Given the description of an element on the screen output the (x, y) to click on. 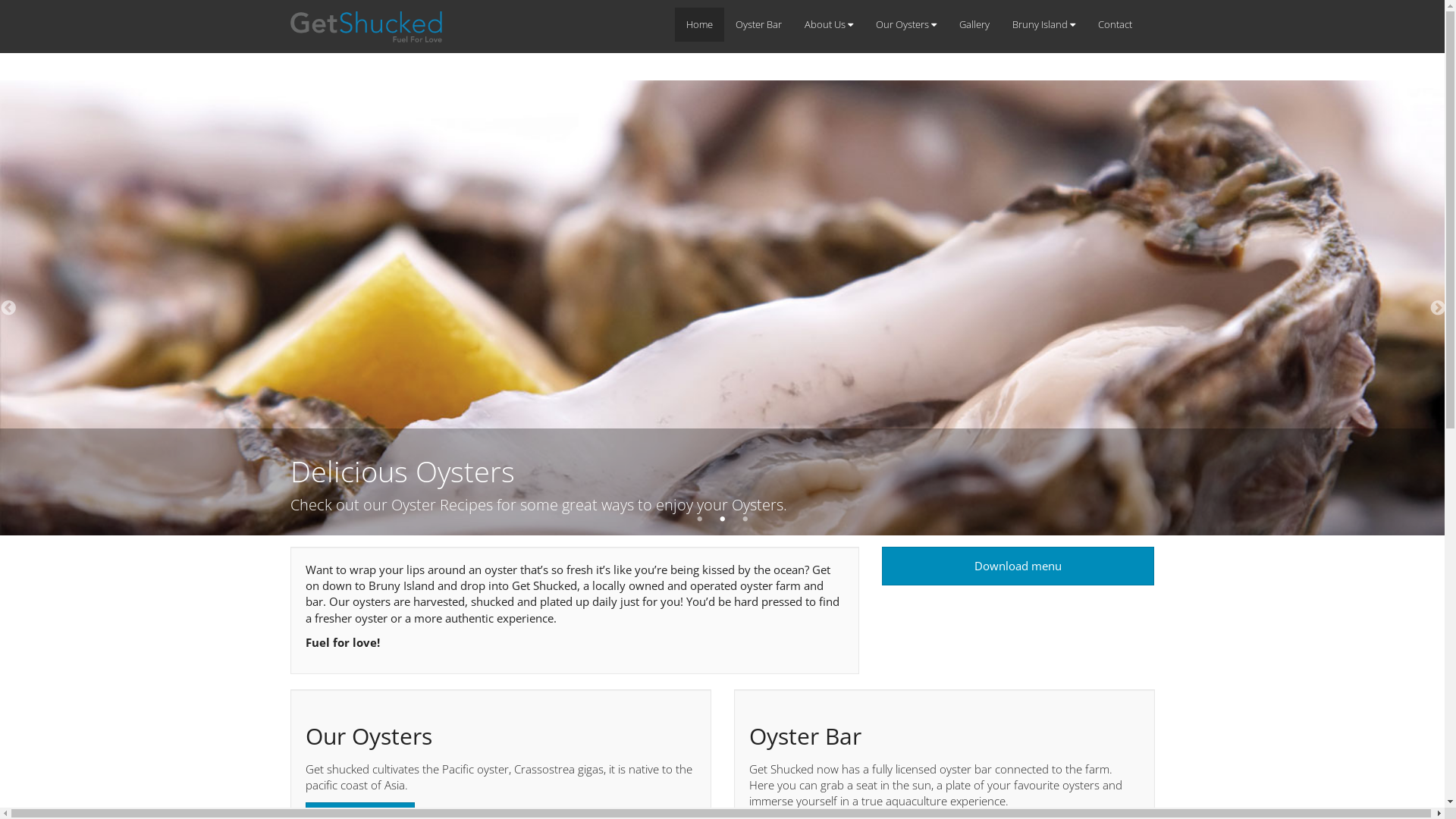
Bruny Island Element type: text (1043, 24)
2 Element type: text (721, 519)
Download menu Element type: text (1017, 565)
Contact Element type: text (1113, 24)
Our Oysters Element type: text (905, 24)
Gallery Element type: text (974, 24)
3 Element type: text (744, 519)
Natural Oysters Element type: hover (722, 363)
Previous Element type: text (7, 307)
Next Element type: text (1436, 307)
Oyster Bar Element type: text (757, 24)
Home Element type: text (699, 24)
Get Shuckedlogo Element type: hover (365, 26)
Skip to main content Element type: text (53, 0)
1 Element type: text (698, 519)
About Us Element type: text (828, 24)
